Given the description of an element on the screen output the (x, y) to click on. 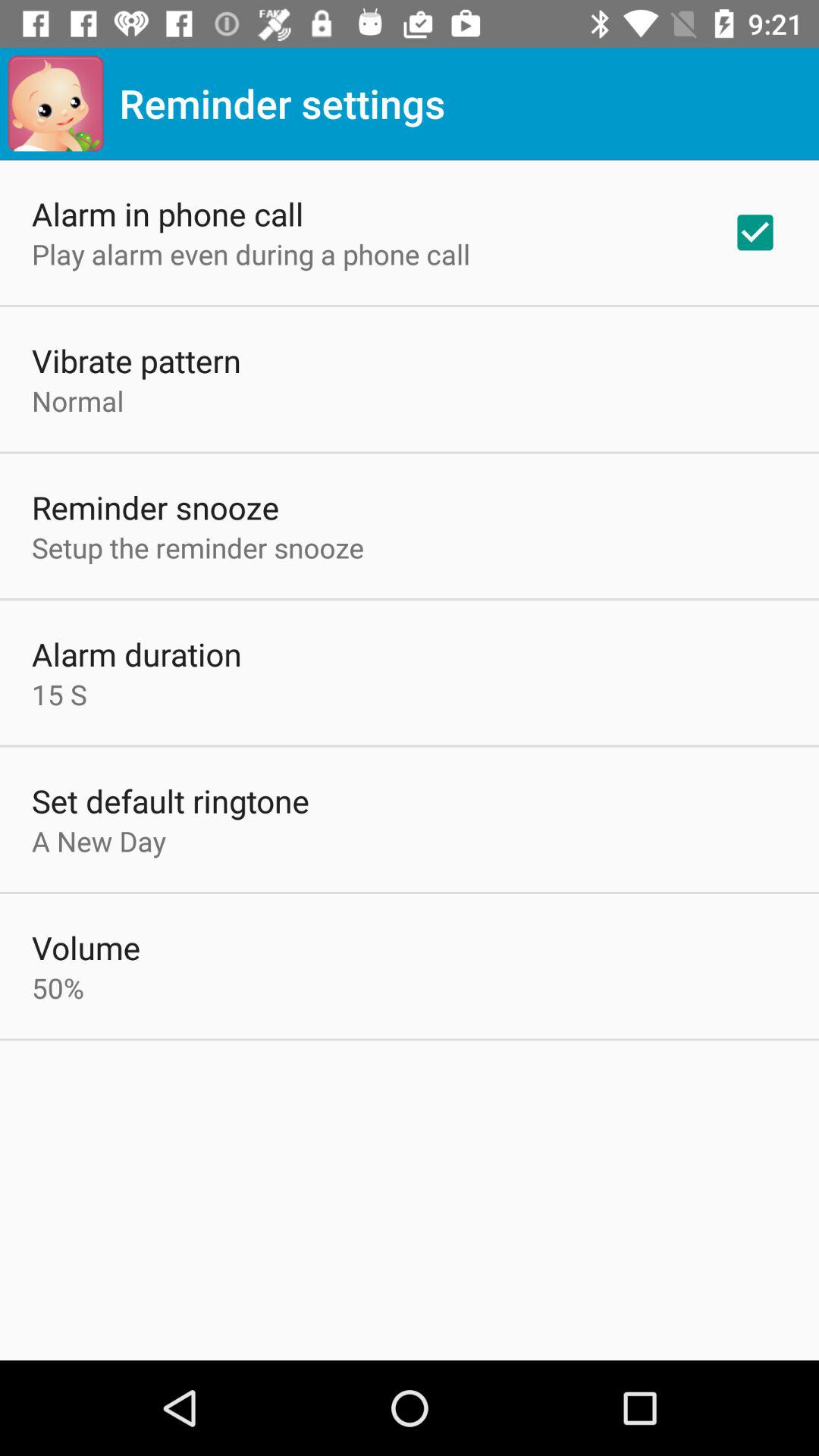
open the item above the 15 s app (136, 653)
